Given the description of an element on the screen output the (x, y) to click on. 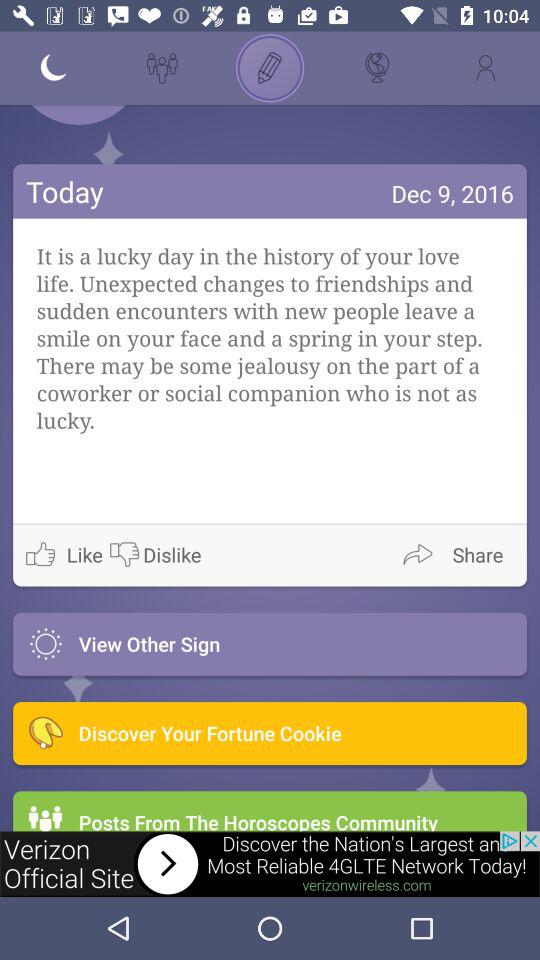
icon button (509, 114)
